Given the description of an element on the screen output the (x, y) to click on. 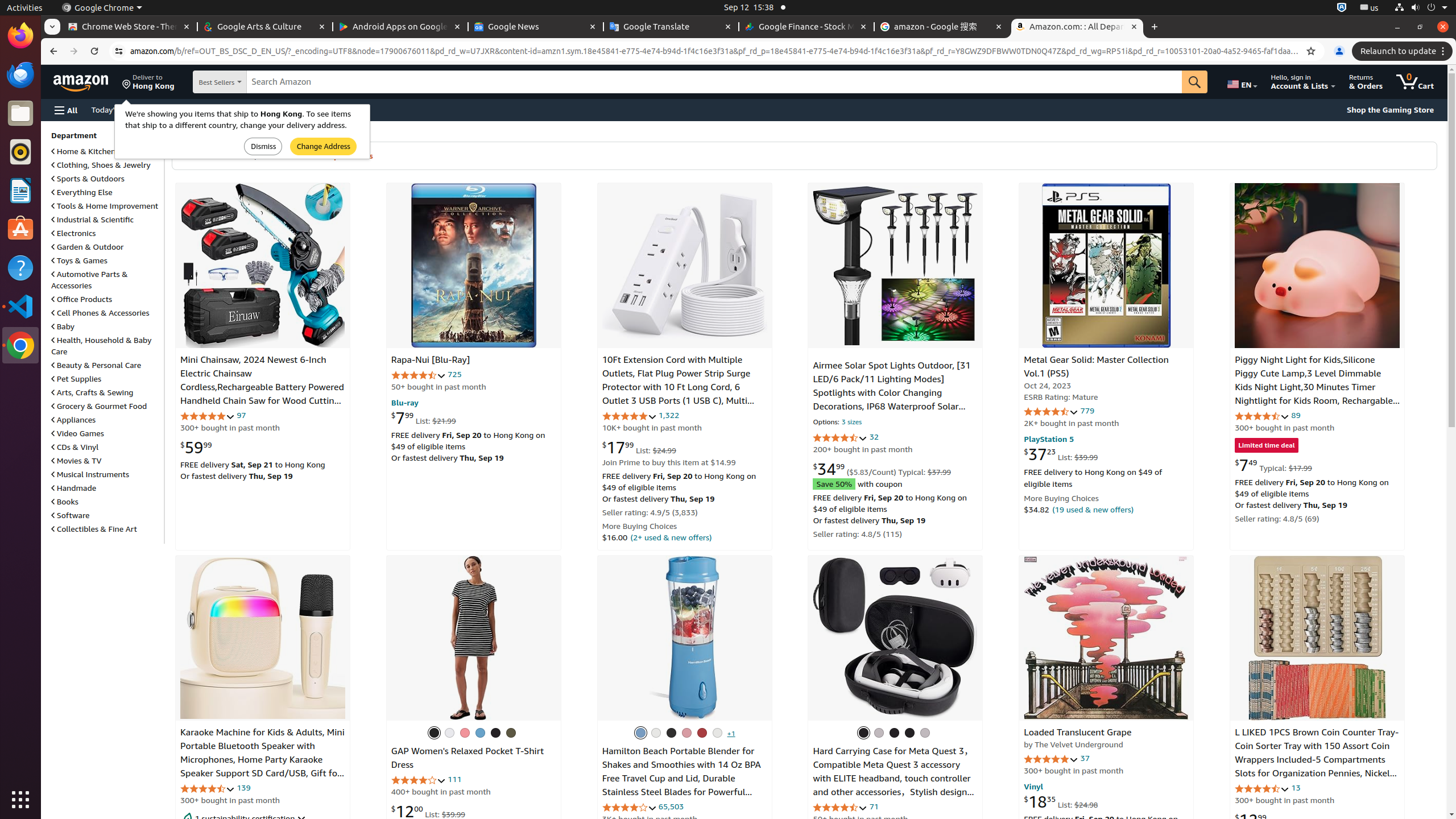
10Ft Extension Cord with Multiple Outlets, Flat Plug Power Strip Surge Protector with 10 Ft Long Cord, 6 Outlet 3 USB Port... Element type: link (684, 265)
Hard Carrying Case for Meta Quest 3，Compatible Meta Quest 3 accessory with ELITE headband, touch controller and other accessories，Stylish design for traveling，Black Element type: link (892, 778)
Beauty & Personal Care Element type: link (96, 364)
Grey Element type: push-button (878, 732)
4.2 out of 5 stars Element type: push-button (628, 807)
